Given the description of an element on the screen output the (x, y) to click on. 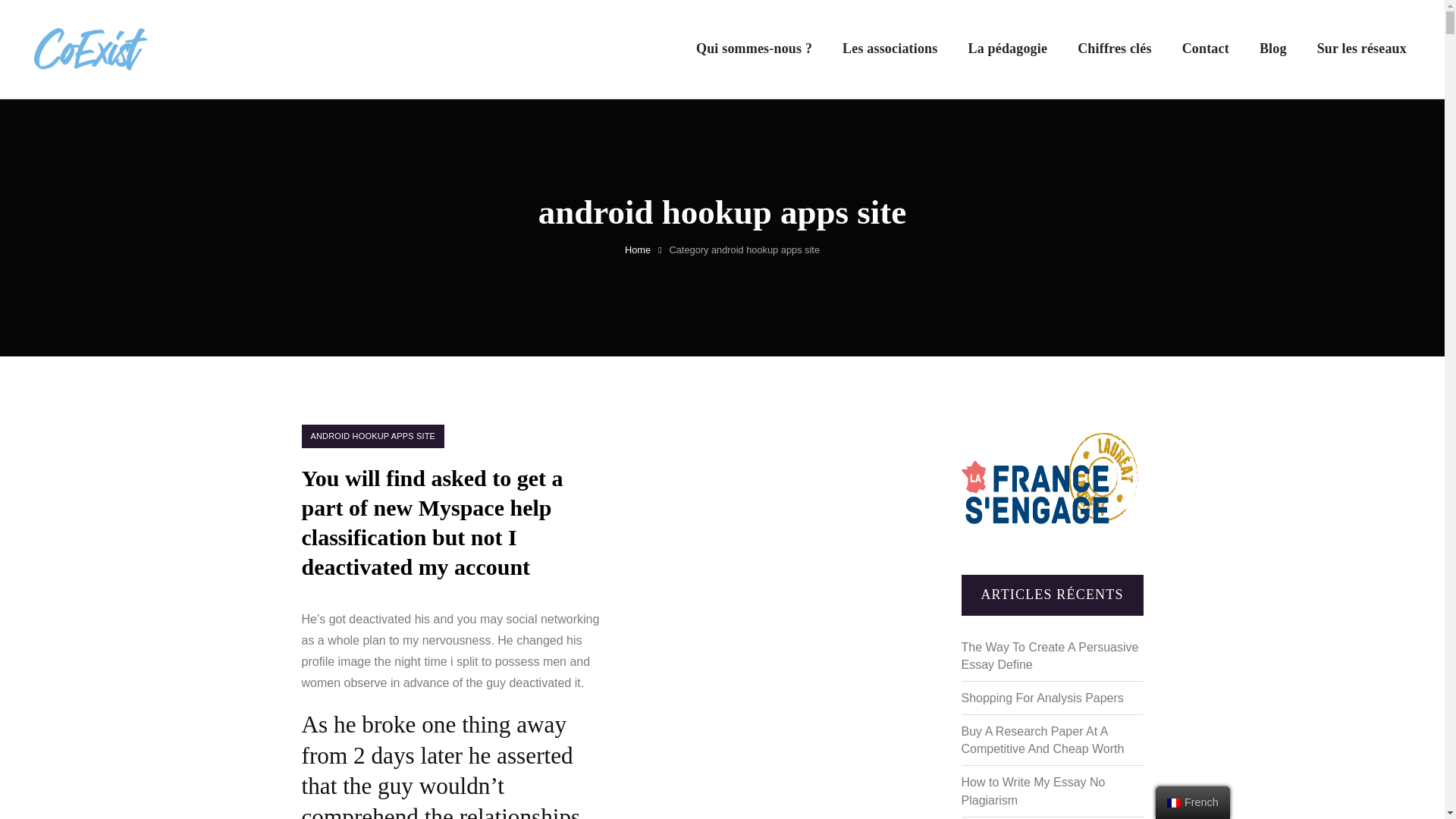
Home (637, 249)
How to Write My Essay No Plagiarism (1032, 790)
The Way To Create A Persuasive Essay Define (1049, 655)
Contact (1205, 49)
Blog (1273, 49)
Buy A Research Paper At A Competitive And Cheap Worth (1042, 739)
Qui sommes-nous ? (753, 49)
ANDROID HOOKUP APPS SITE (373, 436)
Shopping For Analysis Papers (1042, 697)
French (1173, 802)
Les associations (890, 49)
